Given the description of an element on the screen output the (x, y) to click on. 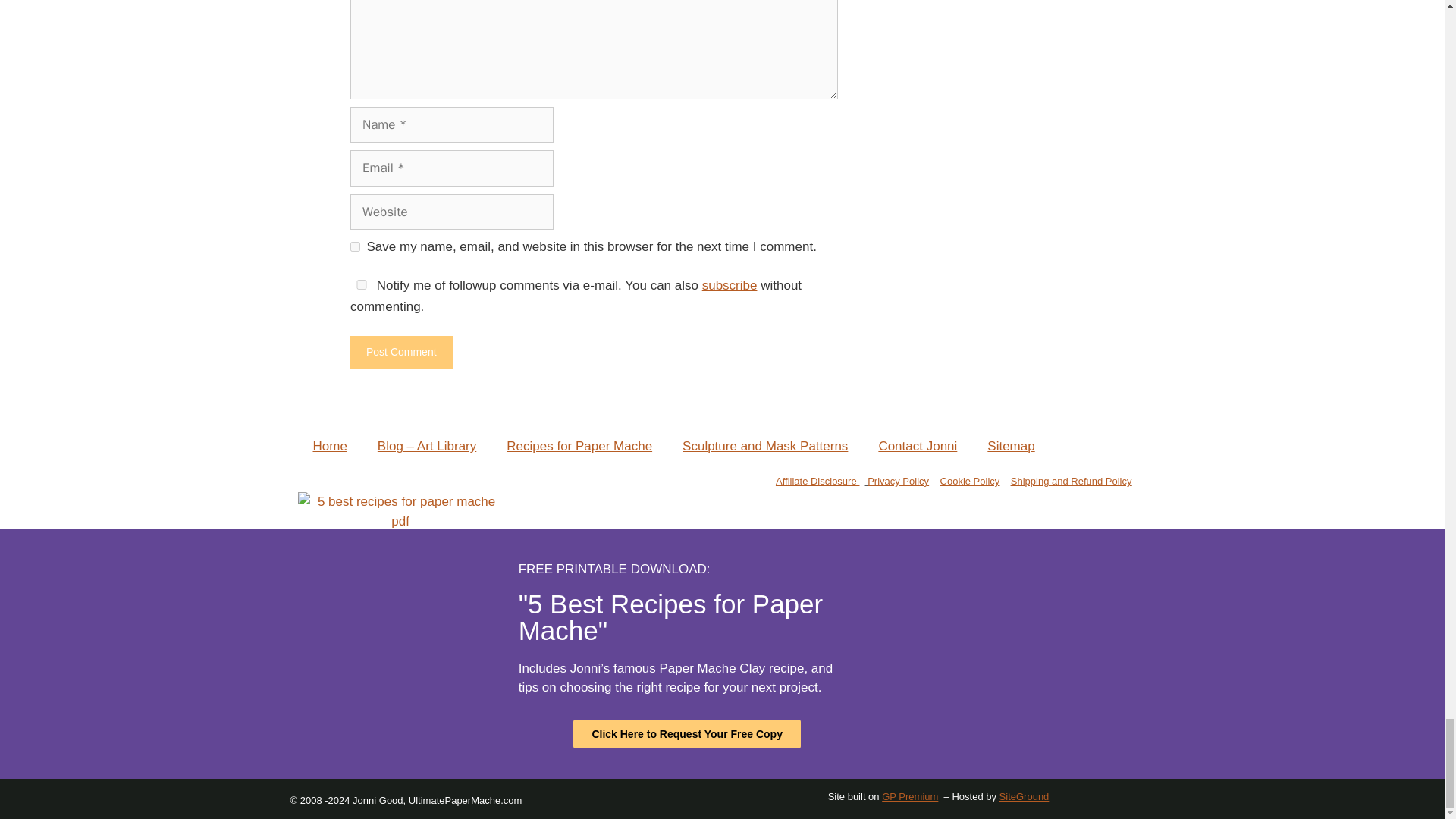
5 best recipes for paper mache pdf (399, 511)
Post Comment (401, 351)
yes (361, 284)
yes (354, 246)
